Given the description of an element on the screen output the (x, y) to click on. 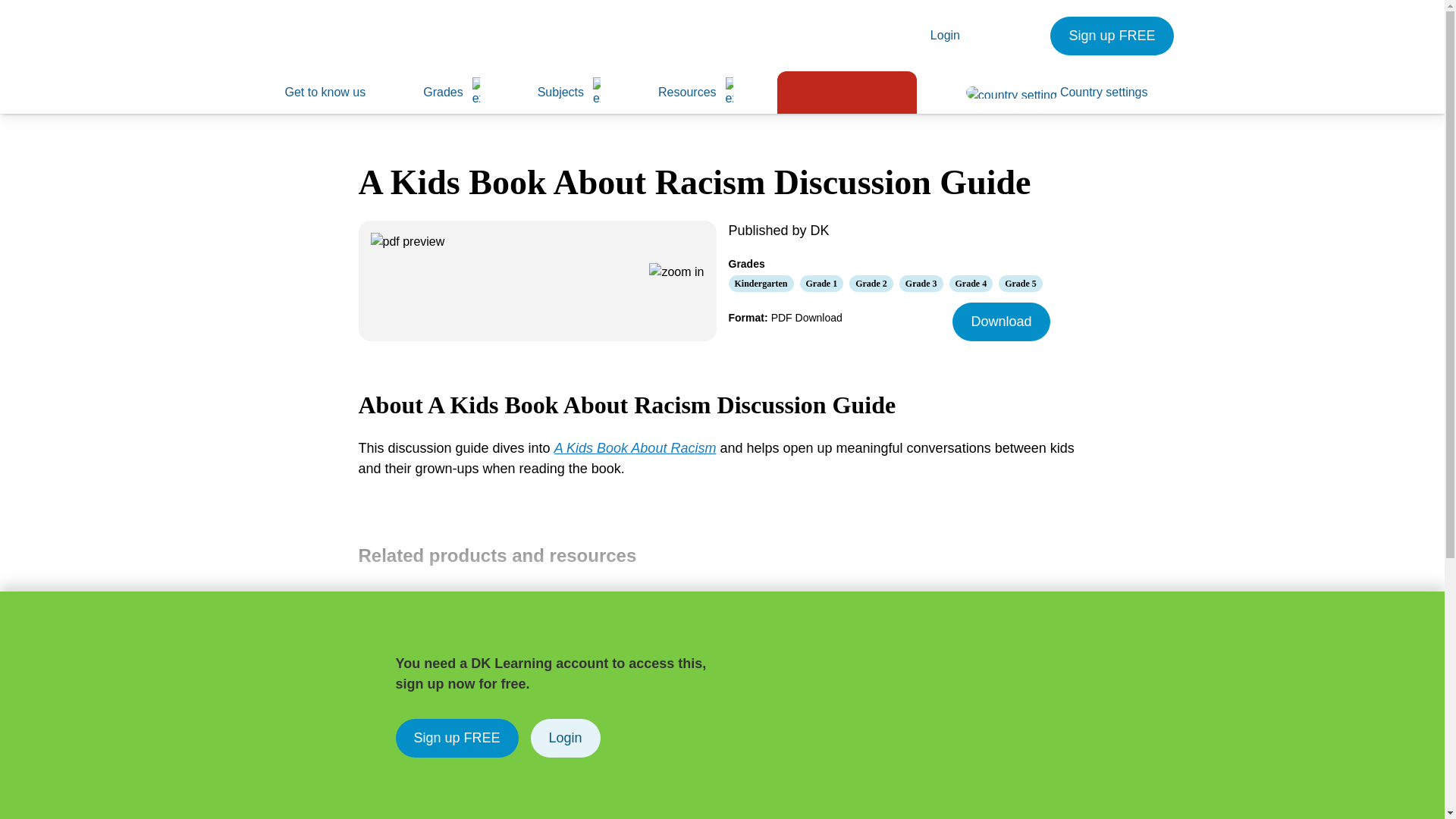
Login (966, 35)
Sign up FREE (1111, 35)
